Given the description of an element on the screen output the (x, y) to click on. 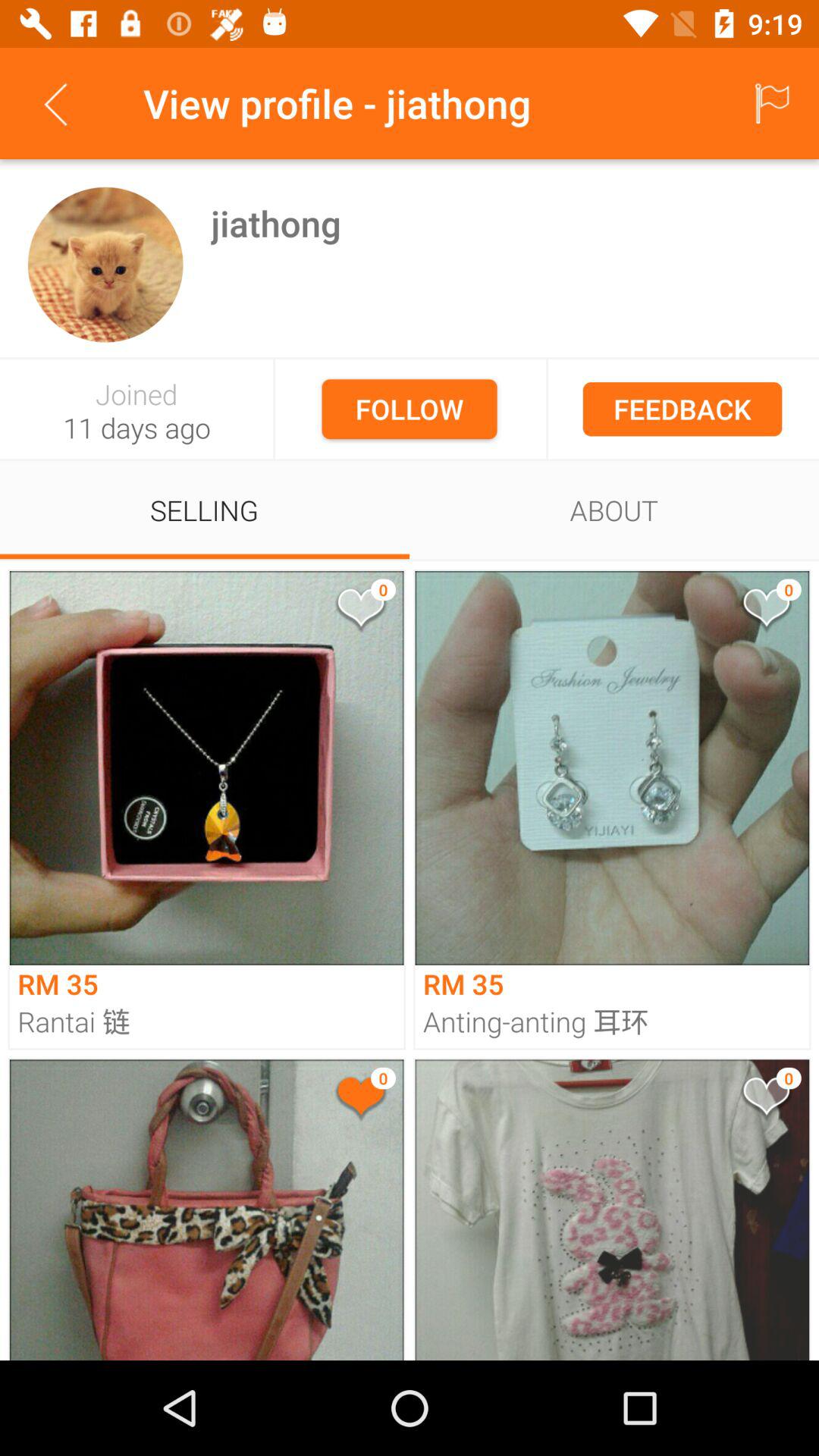
swipe to the follow (409, 409)
